Given the description of an element on the screen output the (x, y) to click on. 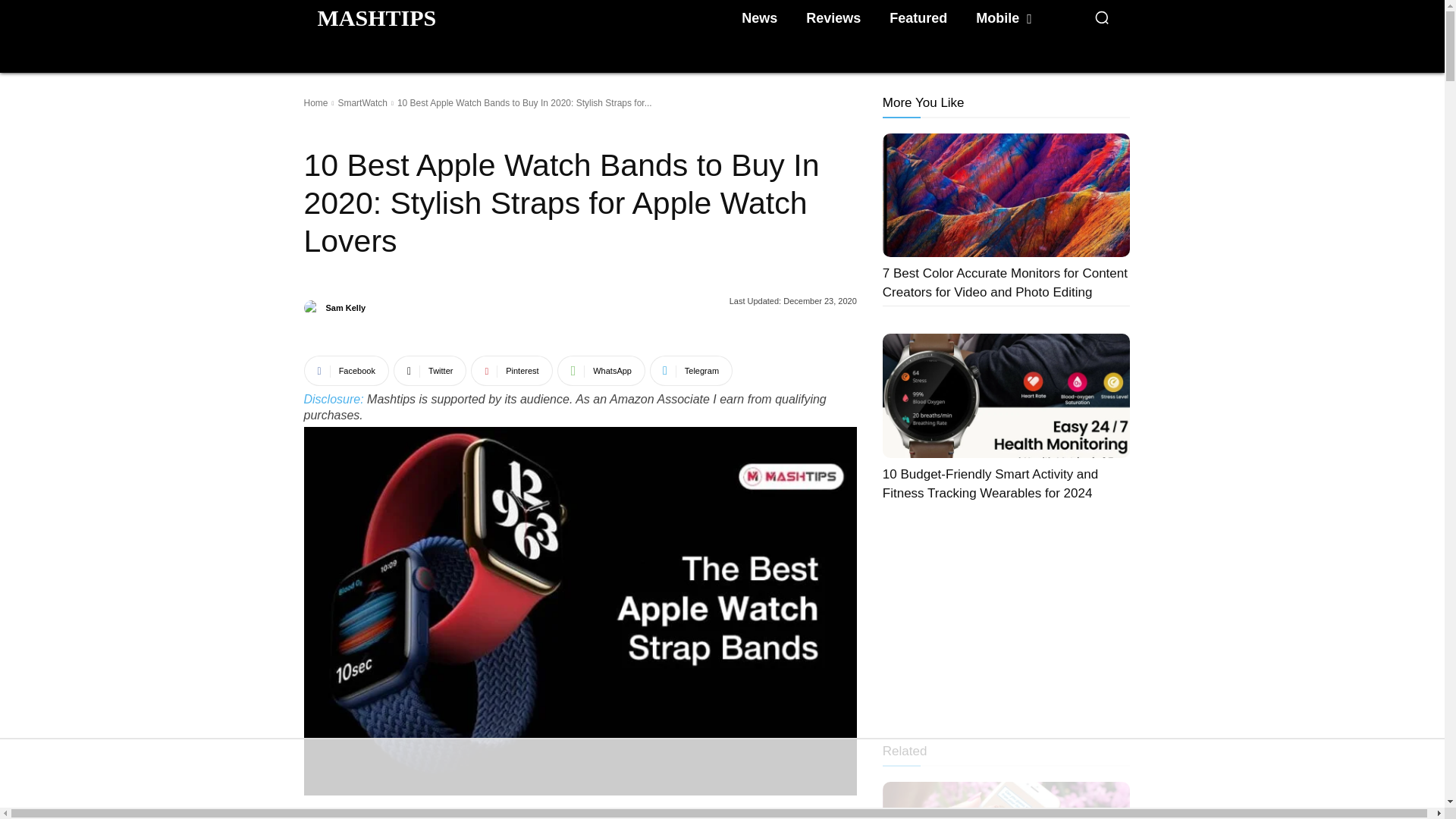
Home (314, 102)
MASHTIPS (376, 17)
Featured (918, 18)
Sam Kelly (346, 307)
Facebook (345, 370)
News (758, 18)
MASHTIPS (376, 17)
Twitter (430, 370)
View all posts in SmartWatch (362, 102)
Pinterest (510, 370)
Reviews (832, 18)
Sam Kelly (312, 307)
